Given the description of an element on the screen output the (x, y) to click on. 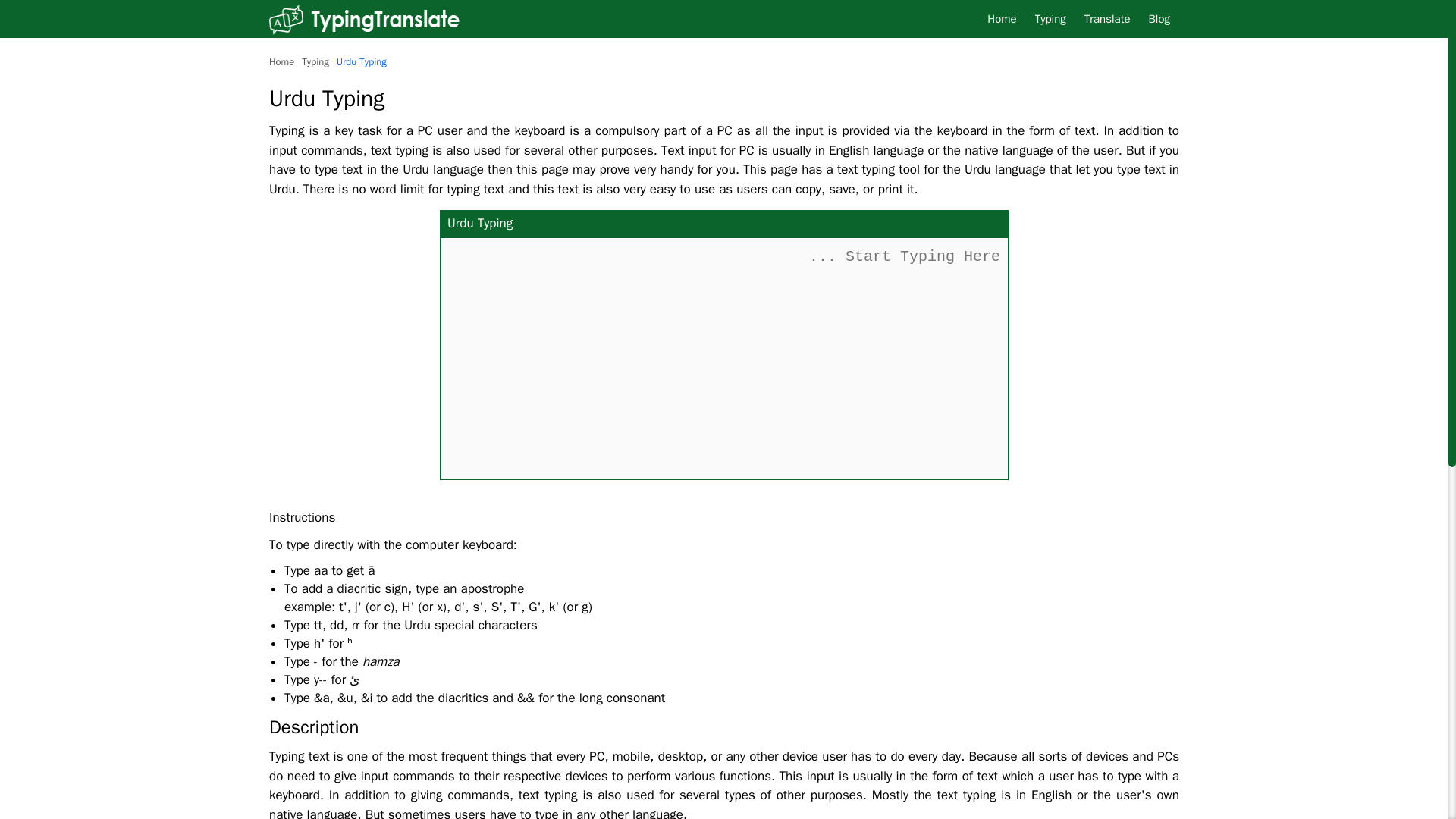
Blog (1159, 18)
Typing (1050, 18)
Urdu Typing (361, 61)
Home (1001, 18)
Translate (1107, 18)
Home (281, 61)
Typing (315, 61)
